Given the description of an element on the screen output the (x, y) to click on. 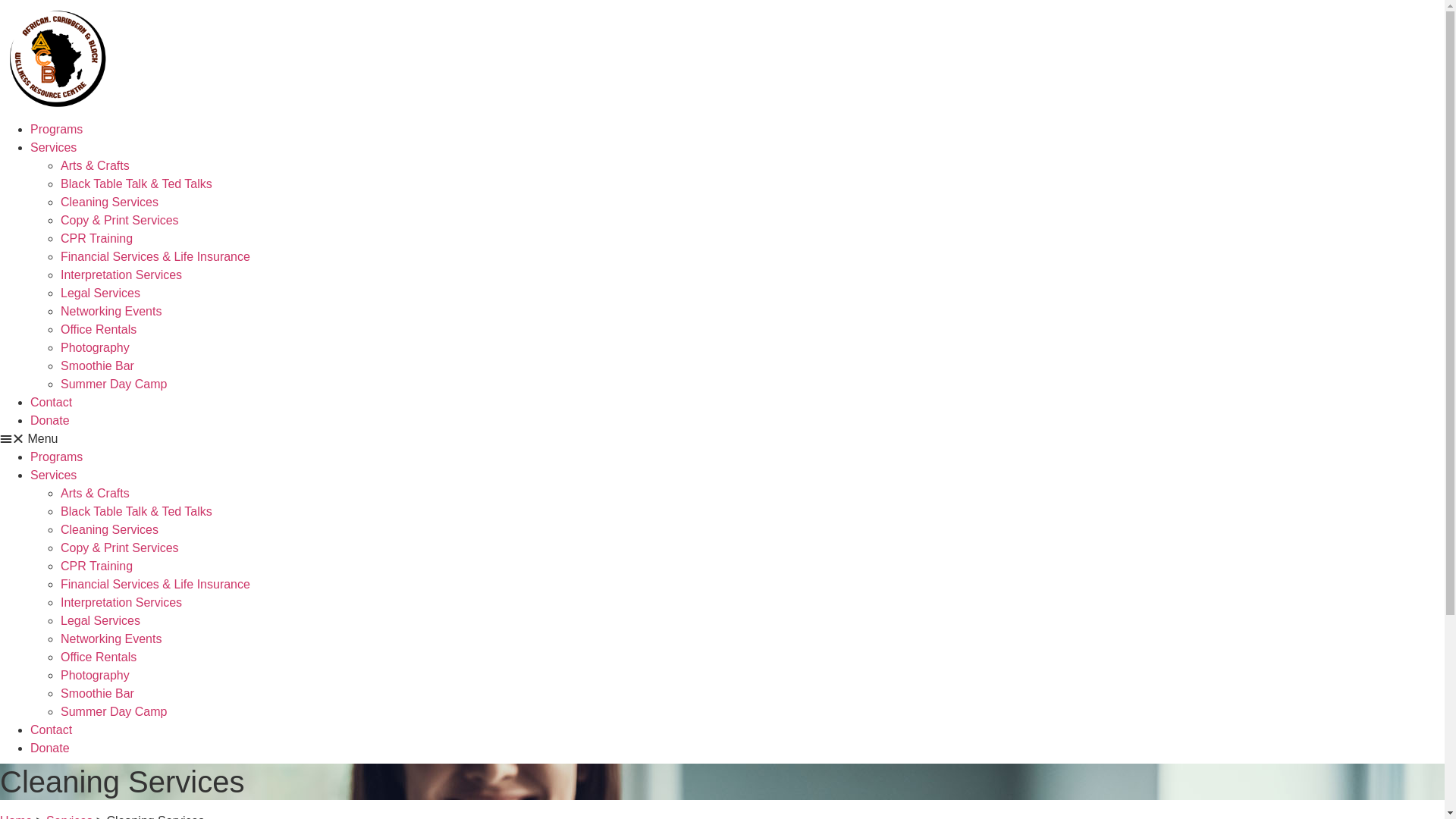
Cleaning Services Element type: text (109, 201)
Black Table Talk & Ted Talks Element type: text (136, 511)
Interpretation Services Element type: text (121, 602)
Photography Element type: text (94, 347)
Copy & Print Services Element type: text (119, 547)
Summer Day Camp Element type: text (113, 383)
Legal Services Element type: text (100, 620)
Office Rentals Element type: text (98, 329)
Programs Element type: text (56, 456)
Interpretation Services Element type: text (121, 274)
Smoothie Bar Element type: text (97, 693)
Black Table Talk & Ted Talks Element type: text (136, 183)
Legal Services Element type: text (100, 292)
Services Element type: text (53, 147)
Services Element type: text (53, 474)
Arts & Crafts Element type: text (94, 492)
Networking Events Element type: text (110, 638)
CPR Training Element type: text (96, 565)
Networking Events Element type: text (110, 310)
Summer Day Camp Element type: text (113, 711)
Financial Services & Life Insurance Element type: text (155, 256)
Photography Element type: text (94, 674)
Smoothie Bar Element type: text (97, 365)
Donate Element type: text (49, 420)
Donate Element type: text (49, 747)
Office Rentals Element type: text (98, 656)
Financial Services & Life Insurance Element type: text (155, 583)
Arts & Crafts Element type: text (94, 165)
Programs Element type: text (56, 128)
Contact Element type: text (51, 401)
CPR Training Element type: text (96, 238)
Copy & Print Services Element type: text (119, 219)
Skip to content Element type: text (0, 0)
Cleaning Services Element type: text (109, 529)
Contact Element type: text (51, 729)
